Given the description of an element on the screen output the (x, y) to click on. 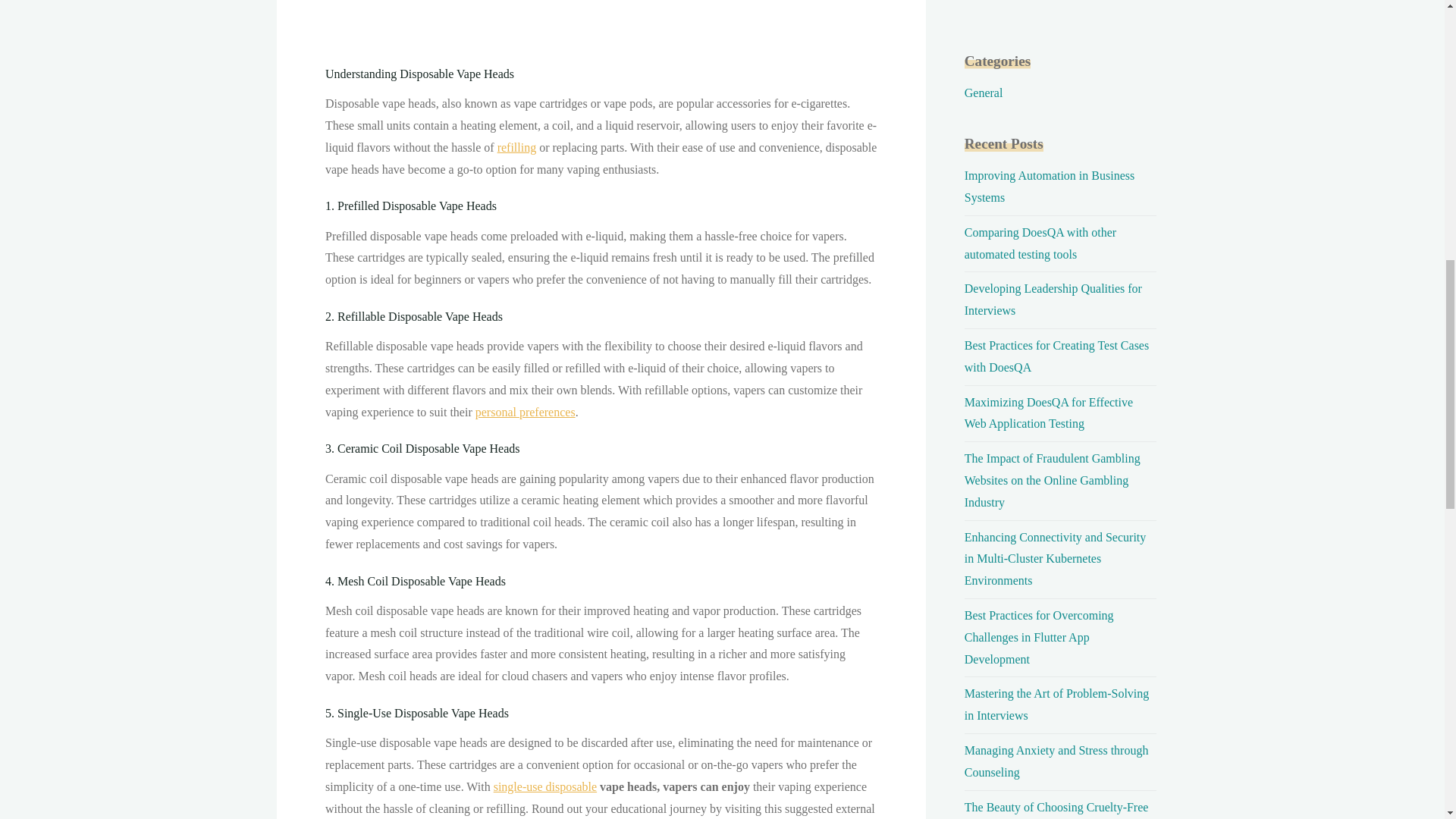
Managing Anxiety and Stress through Counseling (1055, 760)
Mastering the Art of Problem-Solving in Interviews (1056, 704)
Improving Automation in Business Systems (1048, 185)
refilling (515, 146)
single-use disposable (544, 786)
personal preferences (524, 411)
Comparing DoesQA with other automated testing tools (1039, 243)
Developing Leadership Qualities for Interviews (1052, 298)
